Given the description of an element on the screen output the (x, y) to click on. 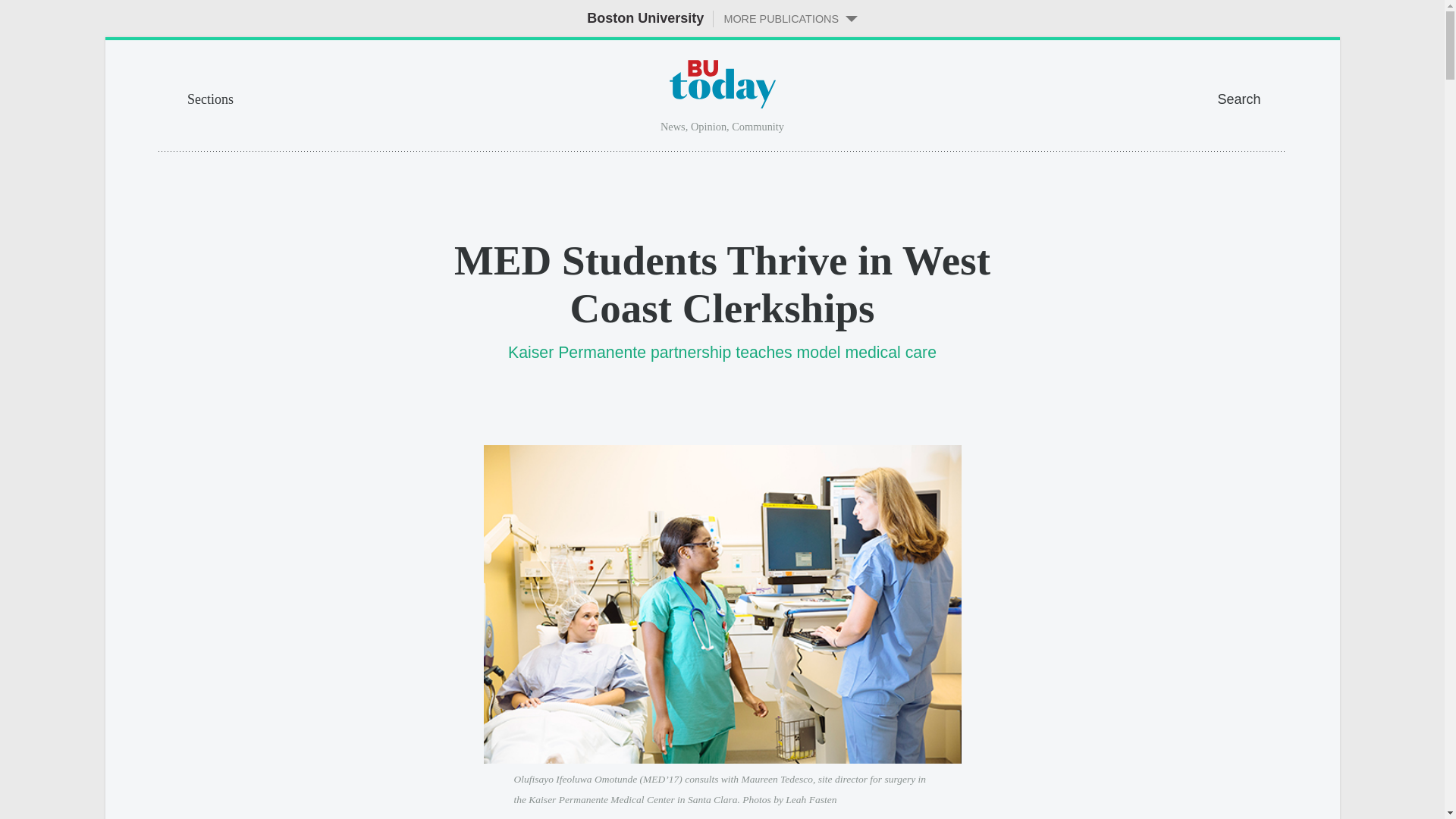
MORE PUBLICATIONS (785, 18)
Boston University (644, 18)
Sections (298, 96)
Search (1251, 96)
